Given the description of an element on the screen output the (x, y) to click on. 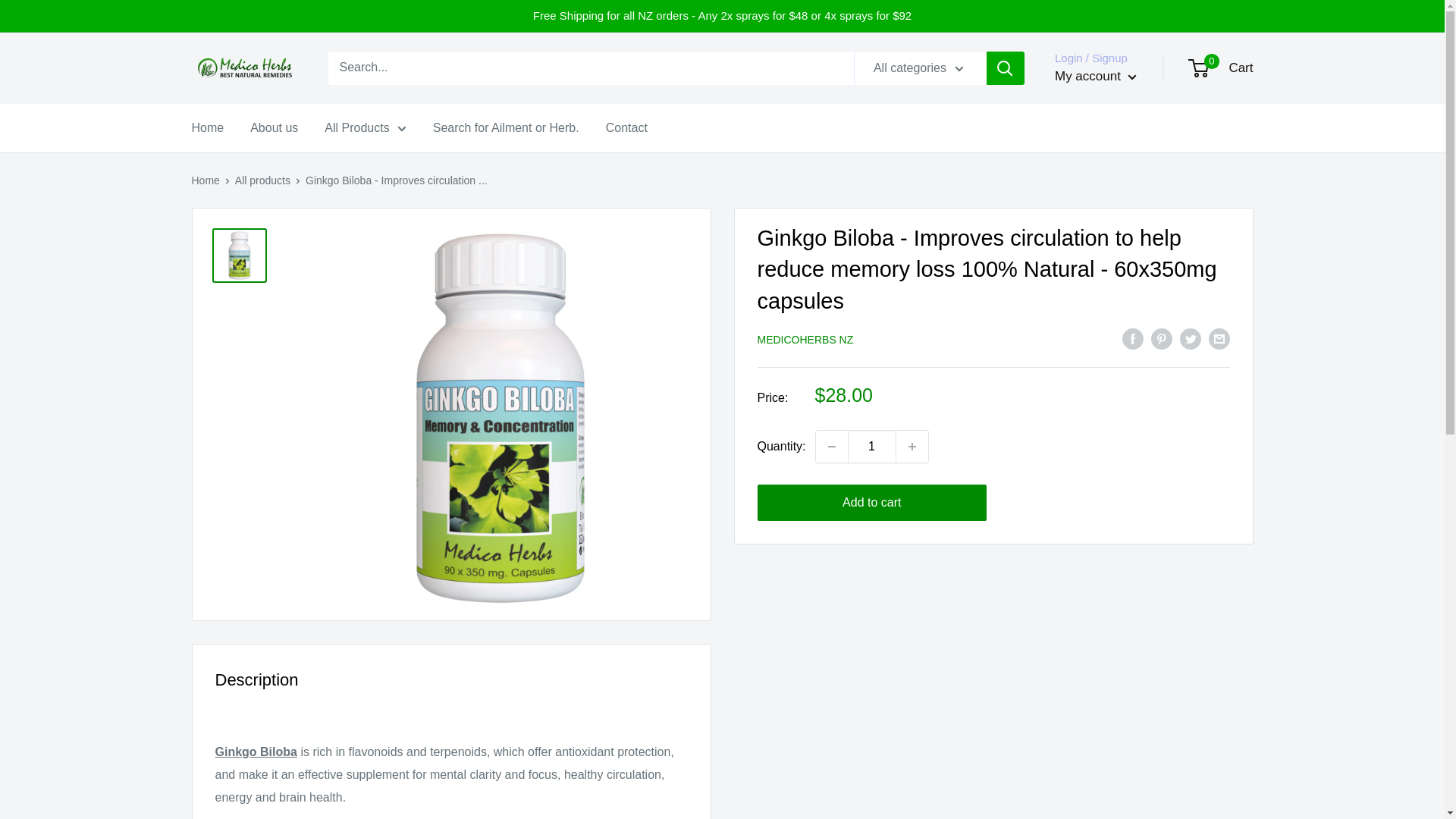
Increase quantity by 1 (912, 446)
Decrease quantity by 1 (1221, 68)
Home (831, 446)
1 (207, 128)
My account (871, 446)
MedicoHerbs NZ (1095, 76)
